Given the description of an element on the screen output the (x, y) to click on. 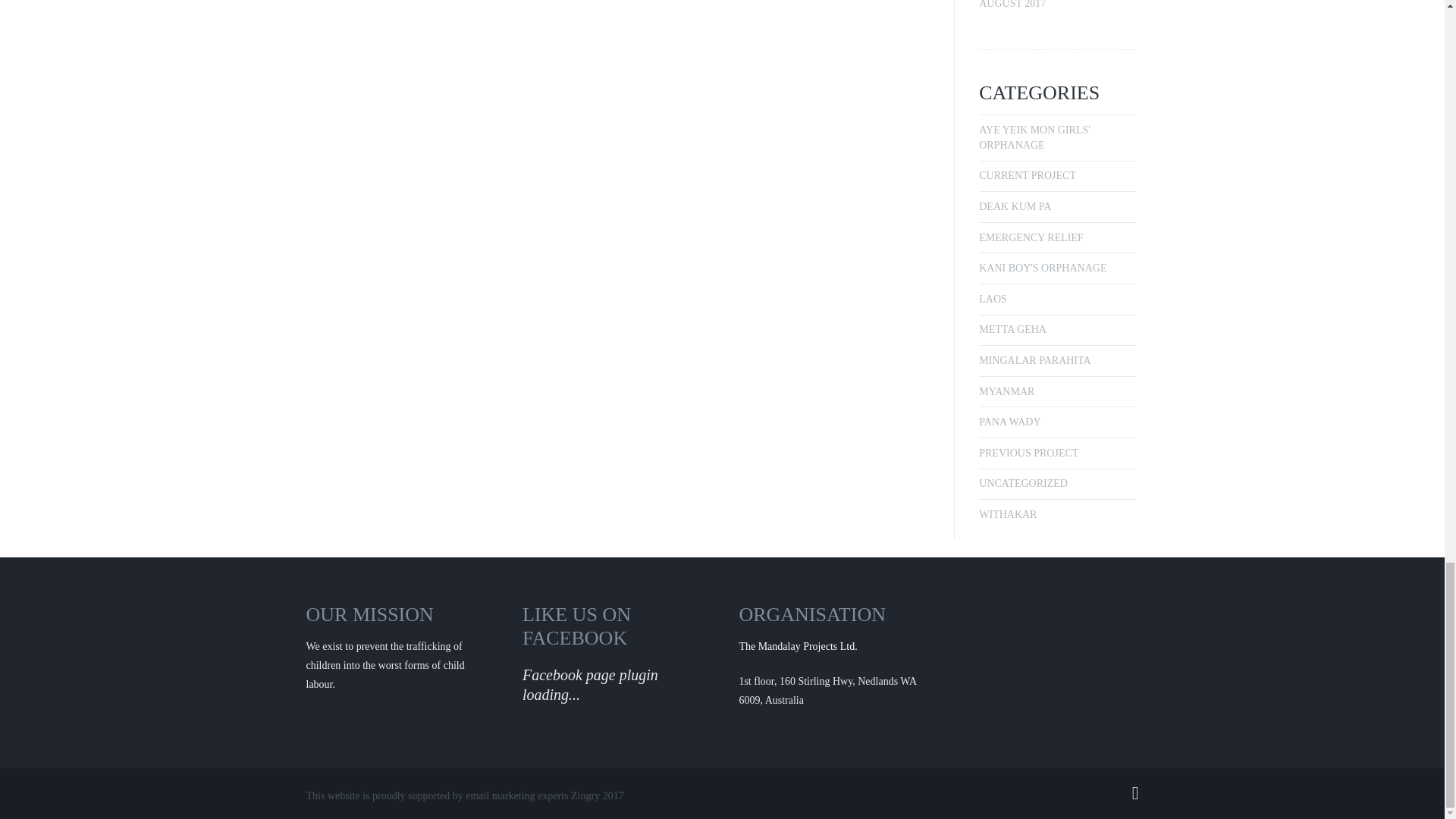
AUGUST 2017 (1011, 4)
